Given the description of an element on the screen output the (x, y) to click on. 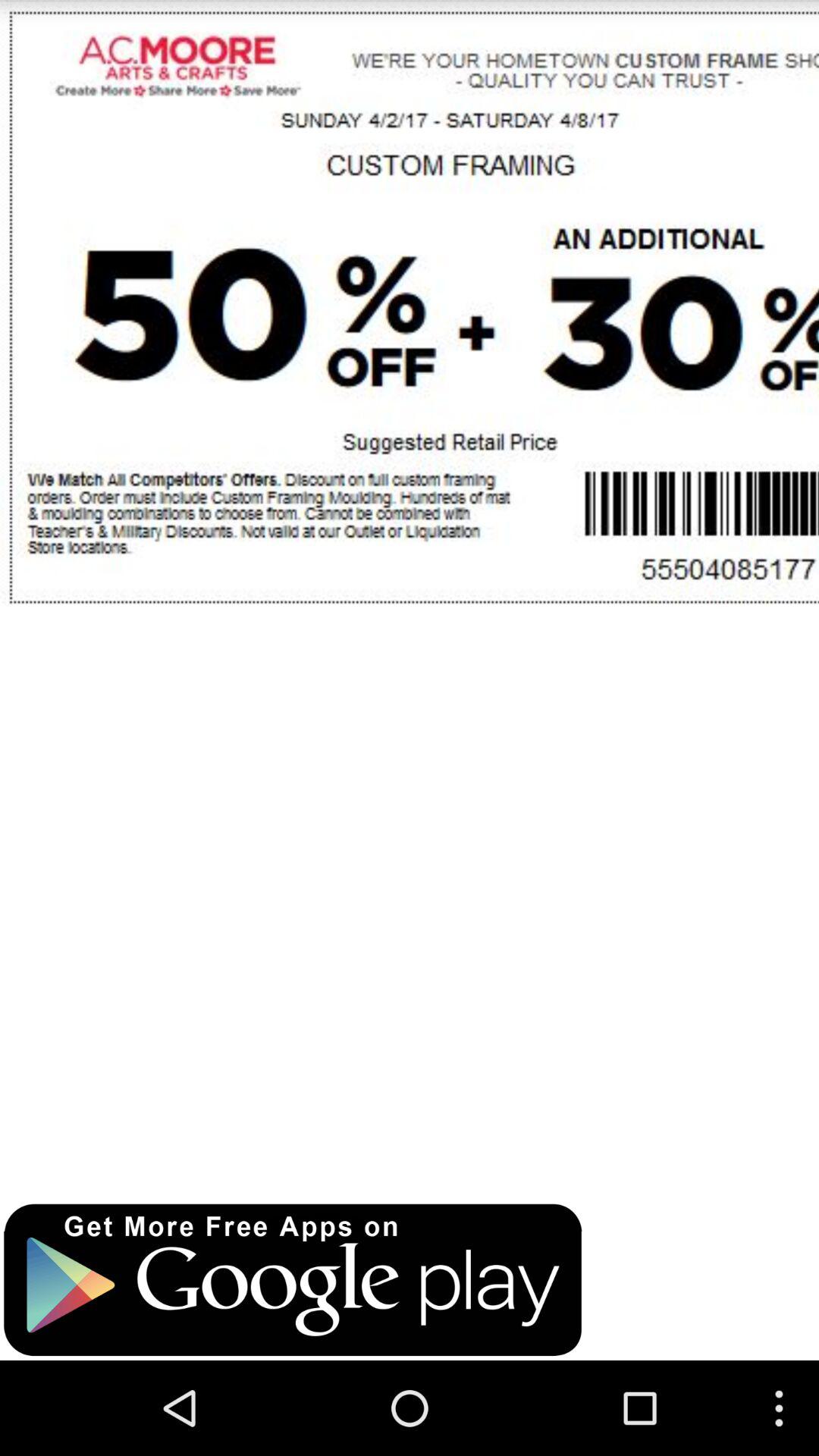
download apps on google play (292, 1280)
